Given the description of an element on the screen output the (x, y) to click on. 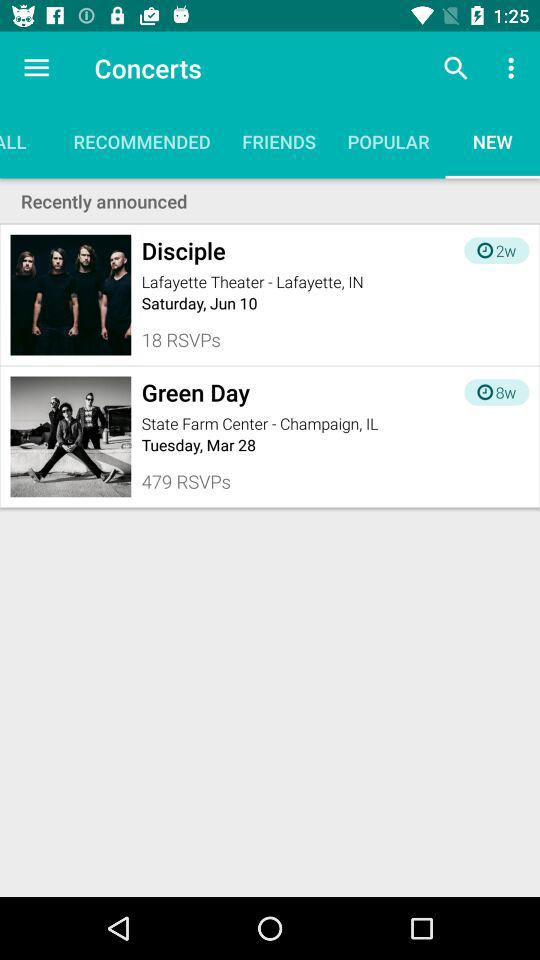
select icon to the left of the concerts (36, 68)
